Given the description of an element on the screen output the (x, y) to click on. 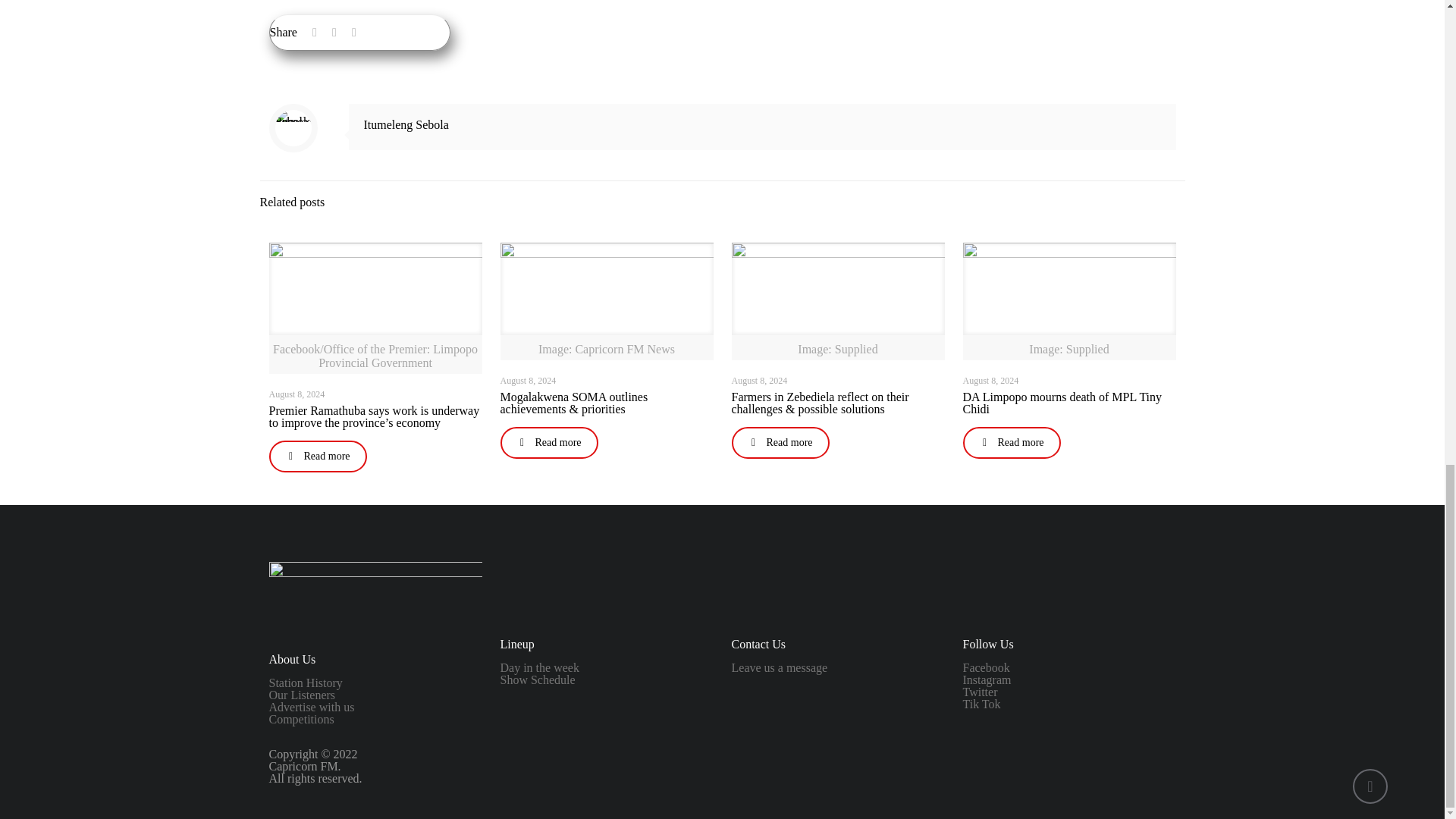
Read more (549, 442)
Itumeleng Sebola (406, 124)
Read more (316, 456)
